Given the description of an element on the screen output the (x, y) to click on. 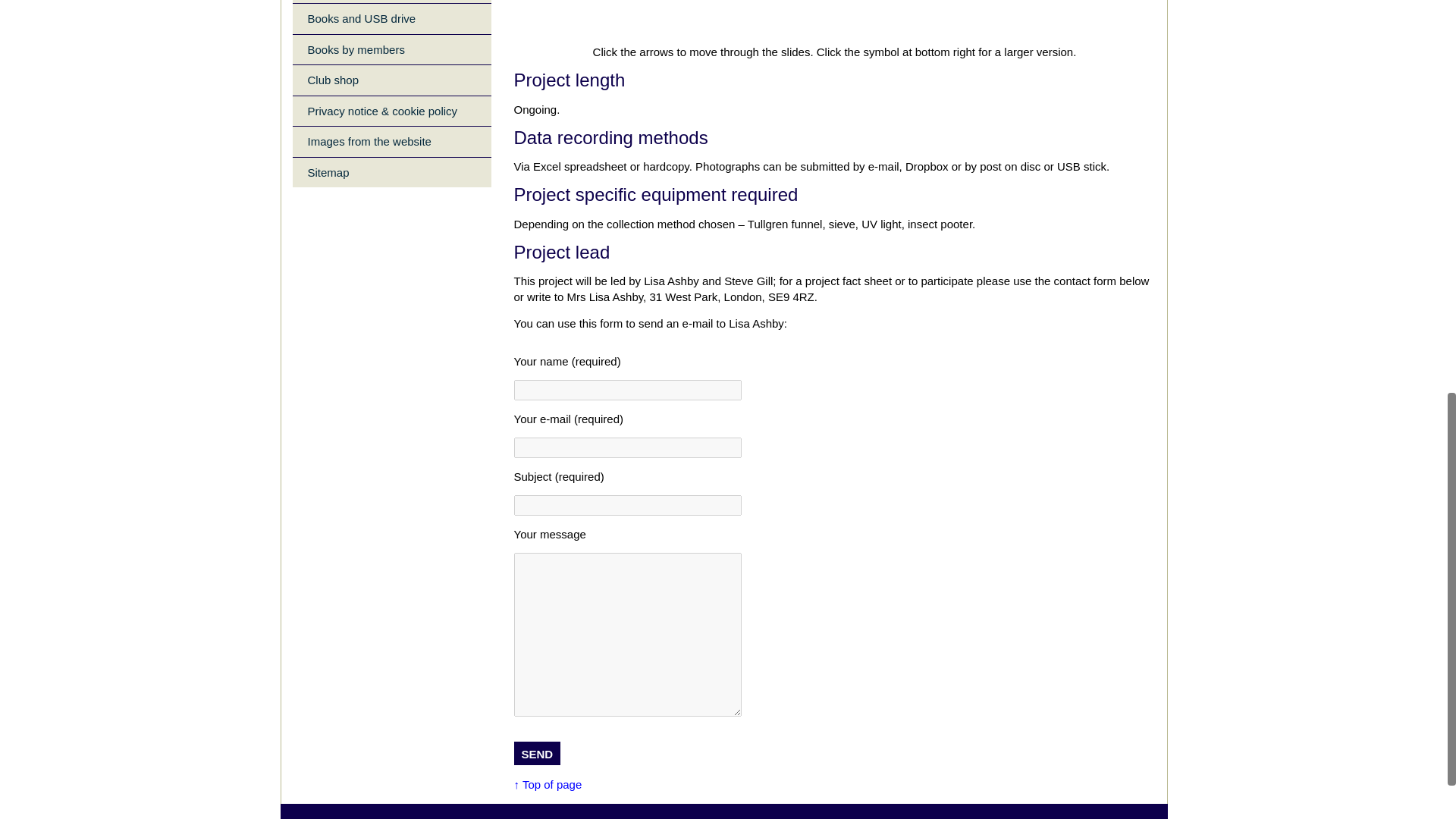
Send (536, 753)
